Given the description of an element on the screen output the (x, y) to click on. 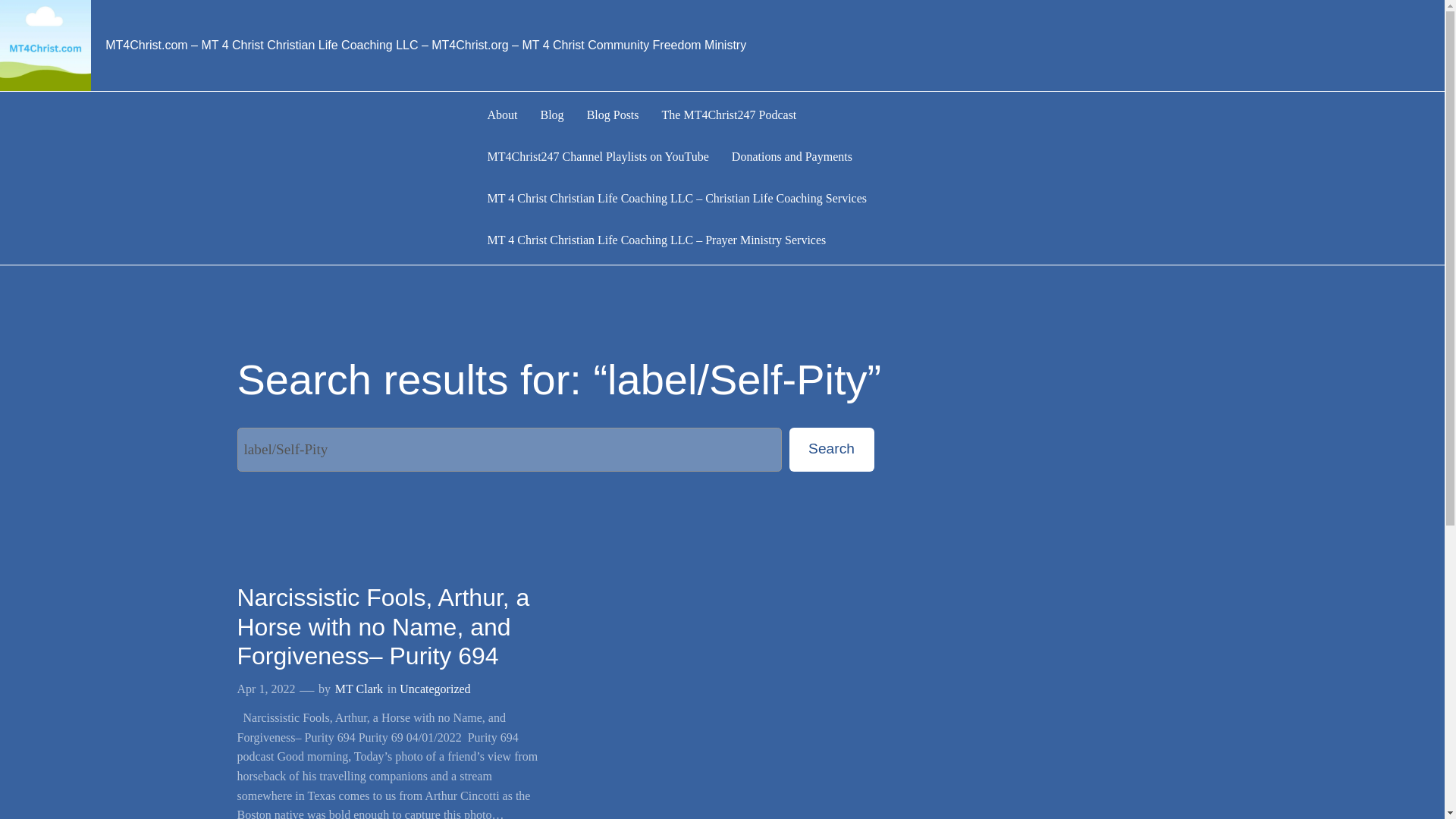
About (501, 115)
Donations and Payments (791, 157)
MT4Christ247 Channel Playlists on YouTube (596, 157)
Search (832, 449)
The MT4Christ247 Podcast (729, 115)
Blog Posts (612, 115)
Apr 1, 2022 (265, 688)
Uncategorized (434, 688)
Blog (551, 115)
MT Clark (358, 688)
